Given the description of an element on the screen output the (x, y) to click on. 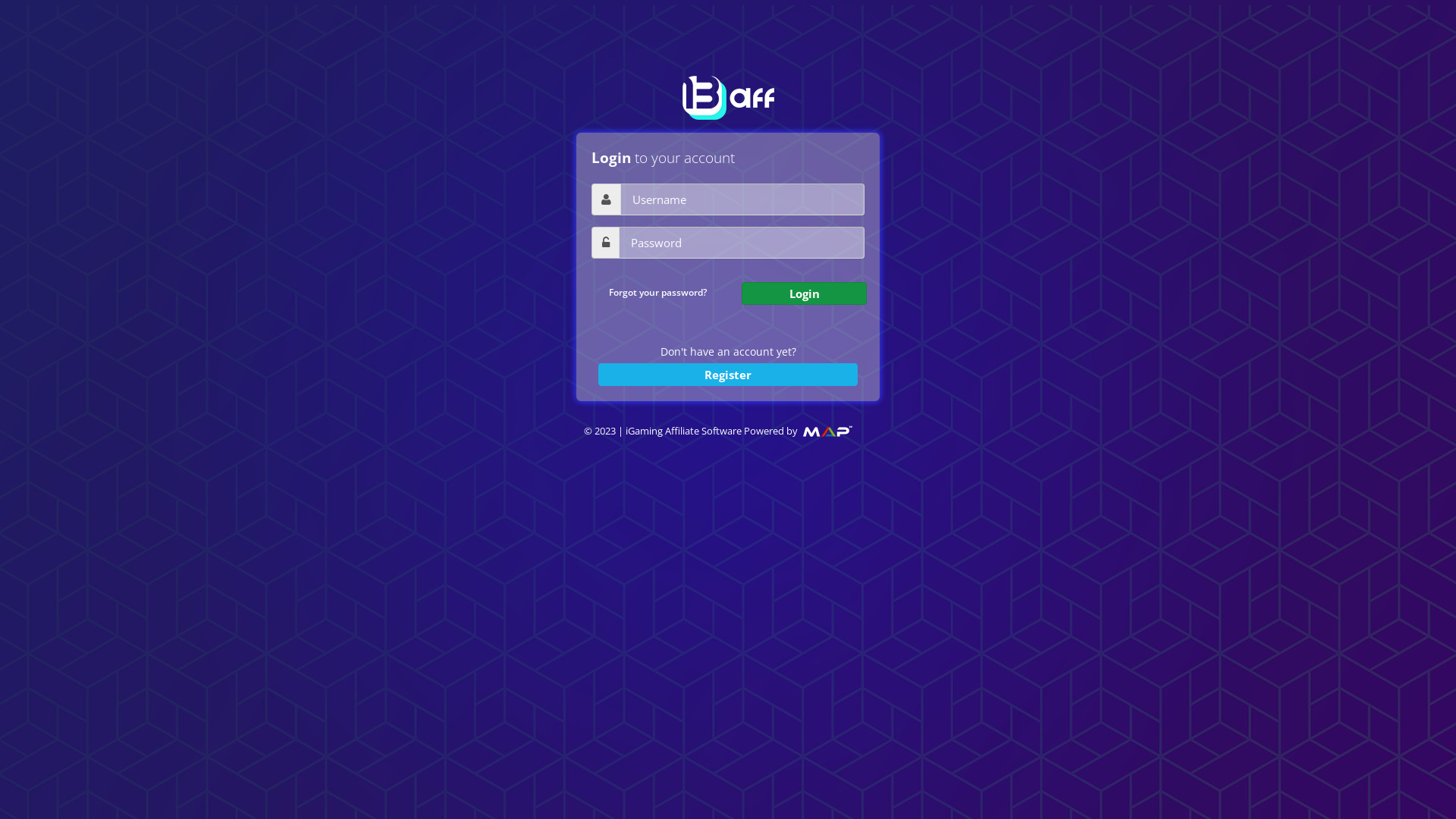
iGaming Affiliate Software Element type: hover (826, 430)
Register Element type: text (727, 374)
Login your account Element type: hover (803, 293)
Login Element type: text (803, 293)
Forgot your password? Element type: text (655, 292)
